Given the description of an element on the screen output the (x, y) to click on. 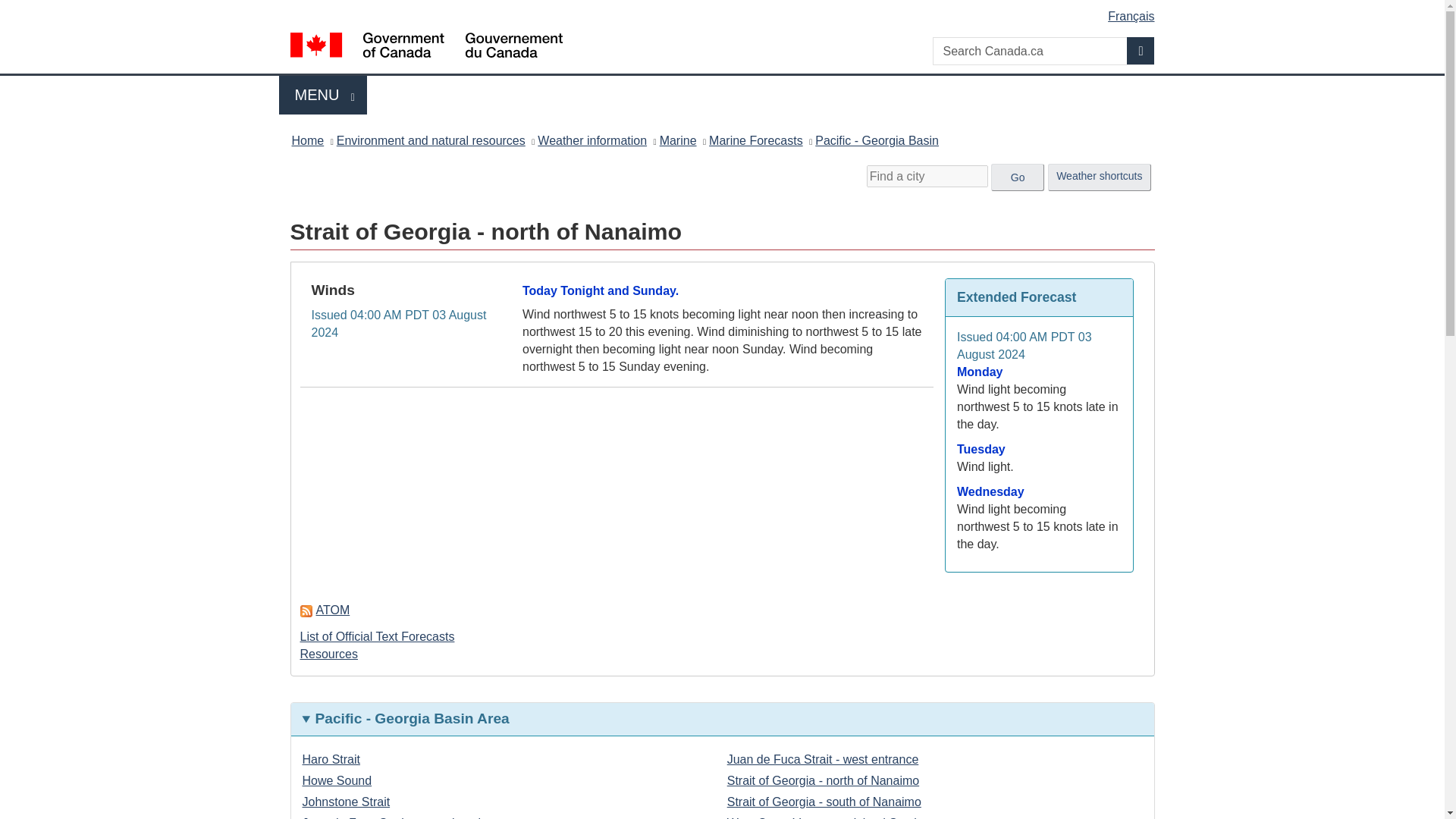
Resources (328, 653)
Skip to main content (725, 11)
Howe Sound (336, 780)
Marine Forecasts (756, 140)
Environment and natural resources (322, 95)
ATOM (430, 140)
Search (324, 609)
Haro Strait (1140, 50)
Go (330, 758)
Weather information (1017, 176)
Home (591, 140)
Pacific - Georgia Basin (307, 140)
Marine (877, 140)
List of Official Text Forecasts (678, 140)
